Given the description of an element on the screen output the (x, y) to click on. 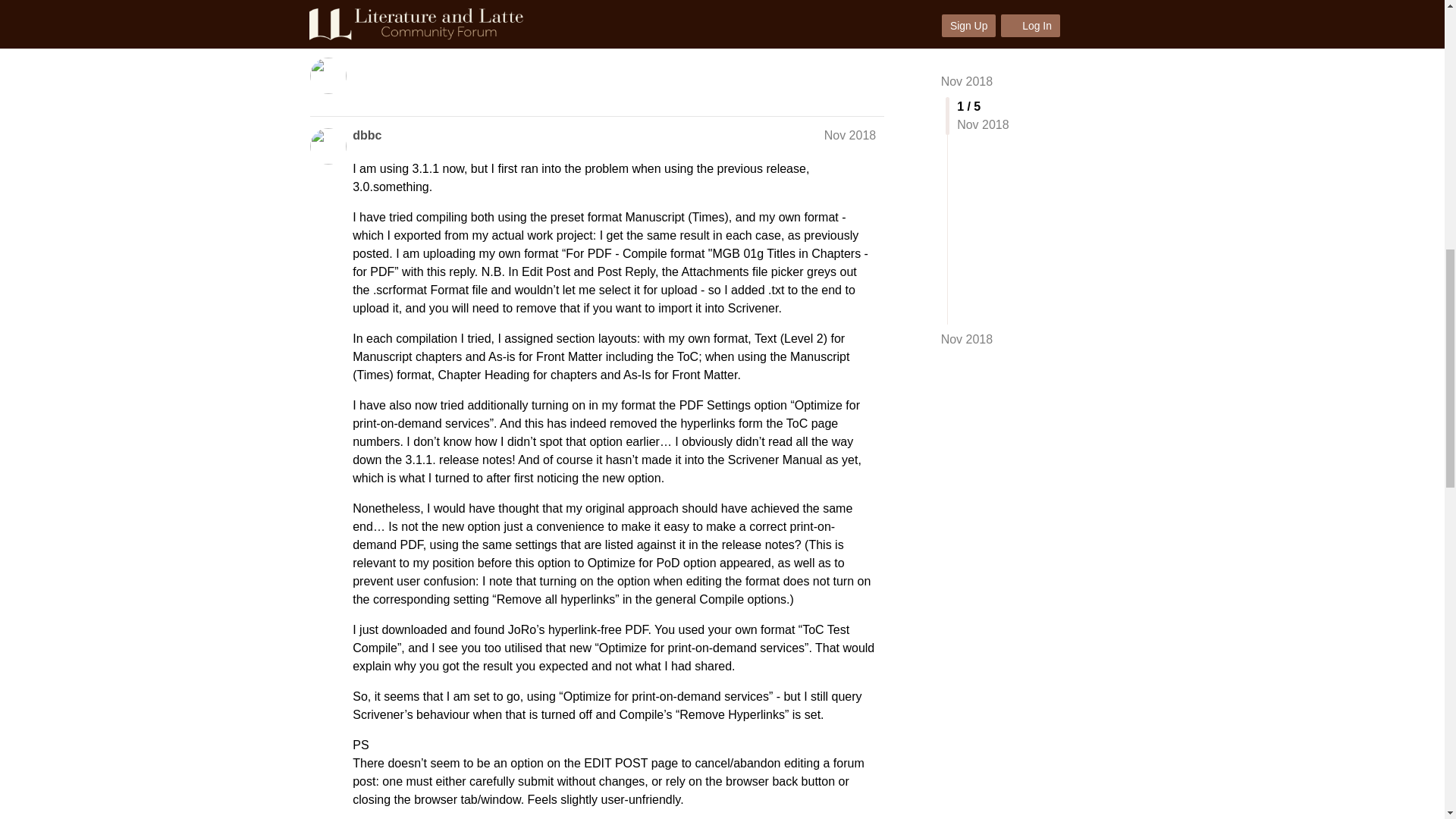
dbbc (366, 135)
Nov 2018 (850, 134)
